Given the description of an element on the screen output the (x, y) to click on. 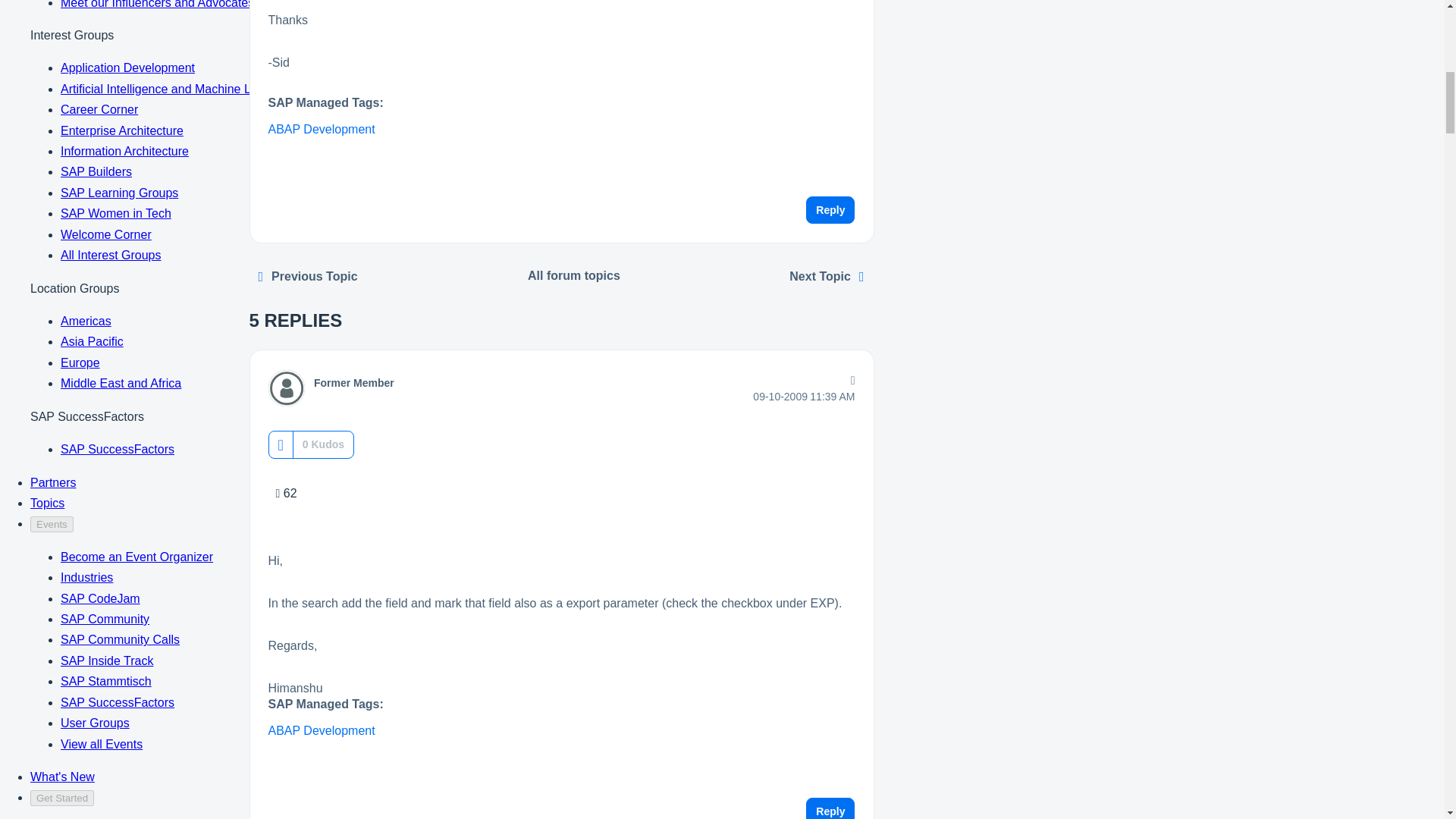
Reply (830, 209)
Next Topic (825, 276)
ABAP Development (321, 128)
Reply (830, 808)
Problem in clearing the fields (308, 276)
rv60afzz update problem (825, 276)
ABAP Development (321, 730)
All forum topics (574, 275)
Application Development Discussions (574, 275)
Previous Topic (308, 276)
